Given the description of an element on the screen output the (x, y) to click on. 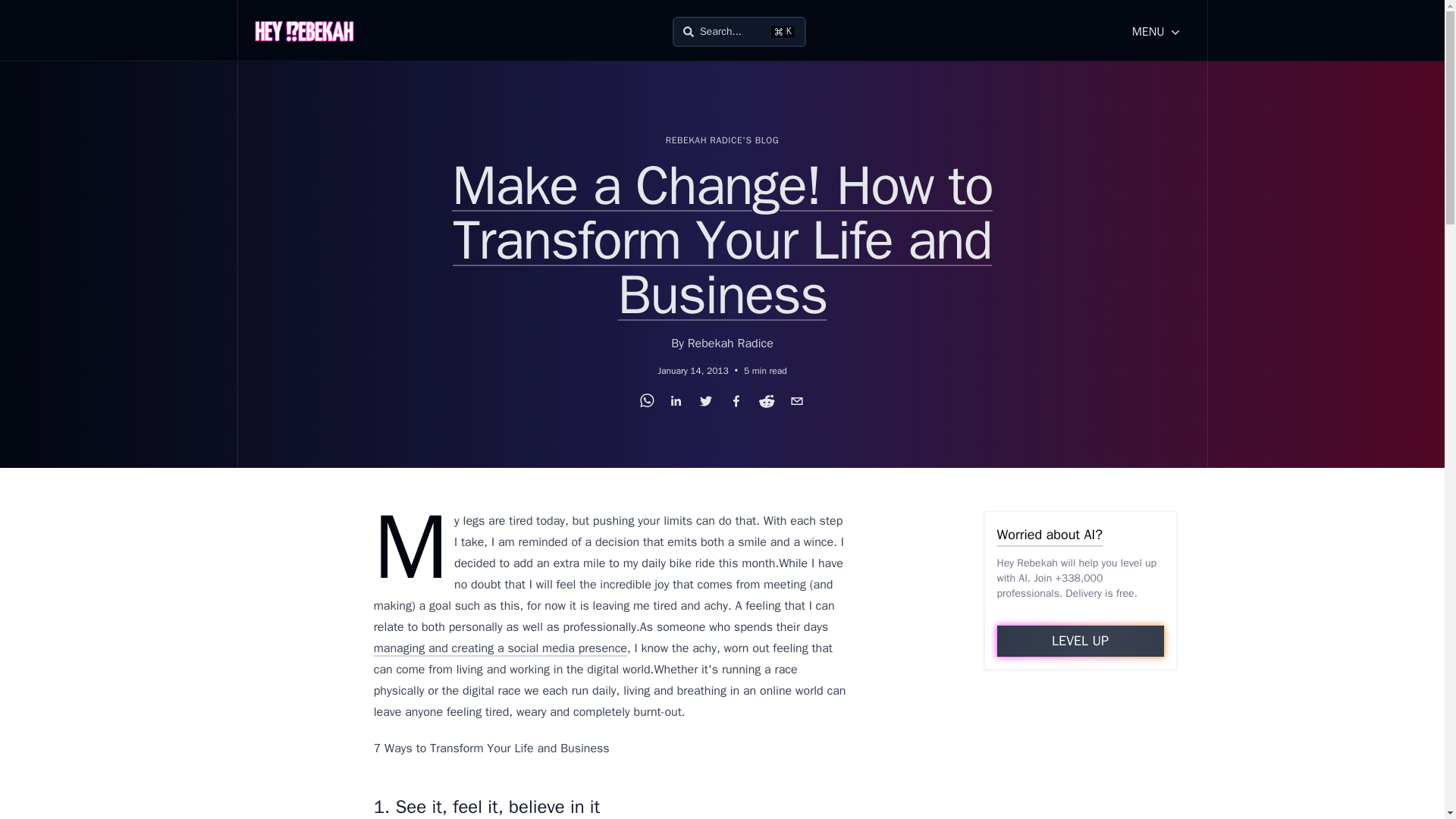
Rebekah Radice (730, 343)
MENU (1157, 31)
managing and creating a social media presence (500, 648)
LEVEL UP (1079, 640)
